Given the description of an element on the screen output the (x, y) to click on. 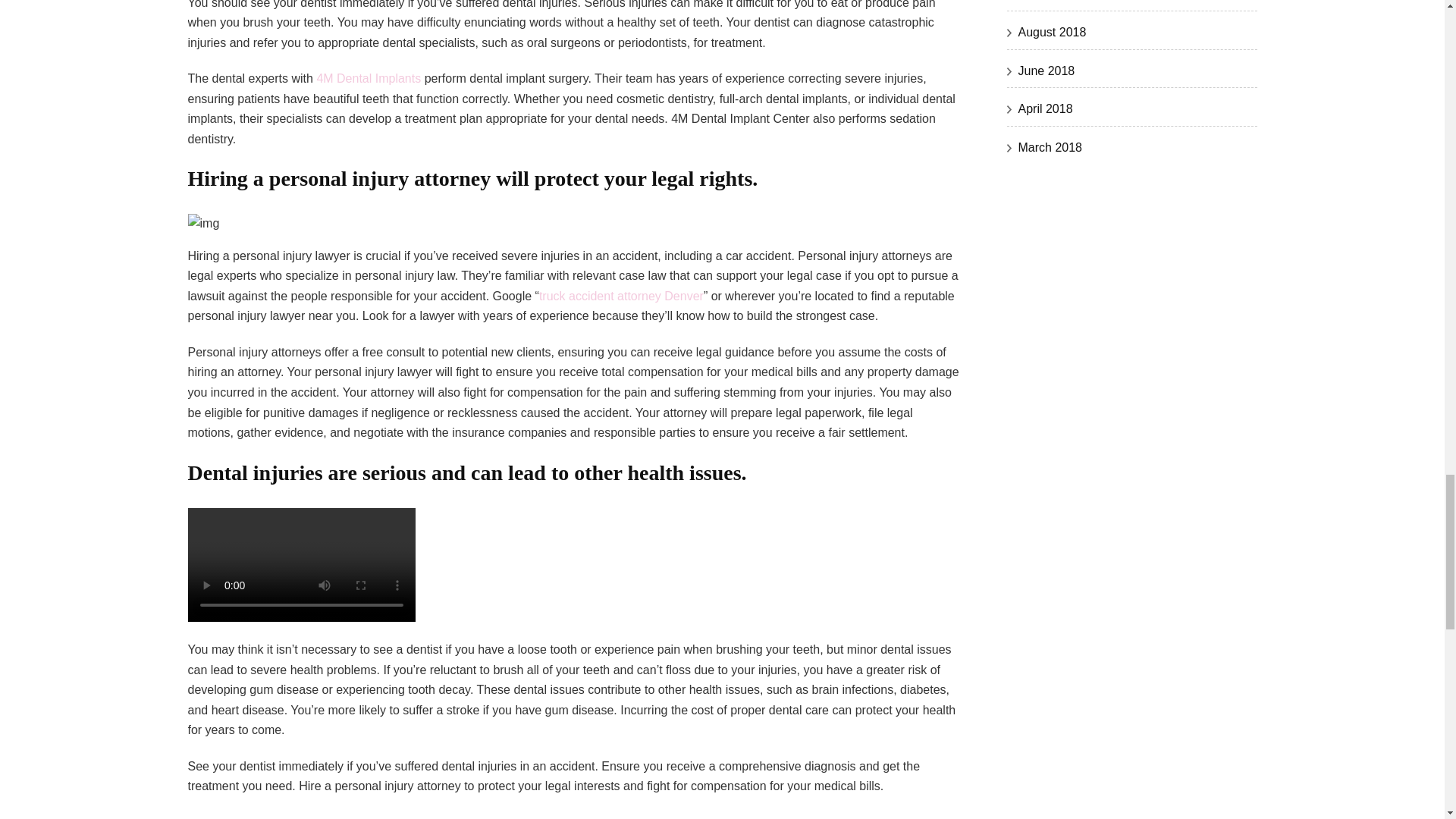
truck accident attorney Denver (620, 295)
4M Dental Implants (367, 78)
